Given the description of an element on the screen output the (x, y) to click on. 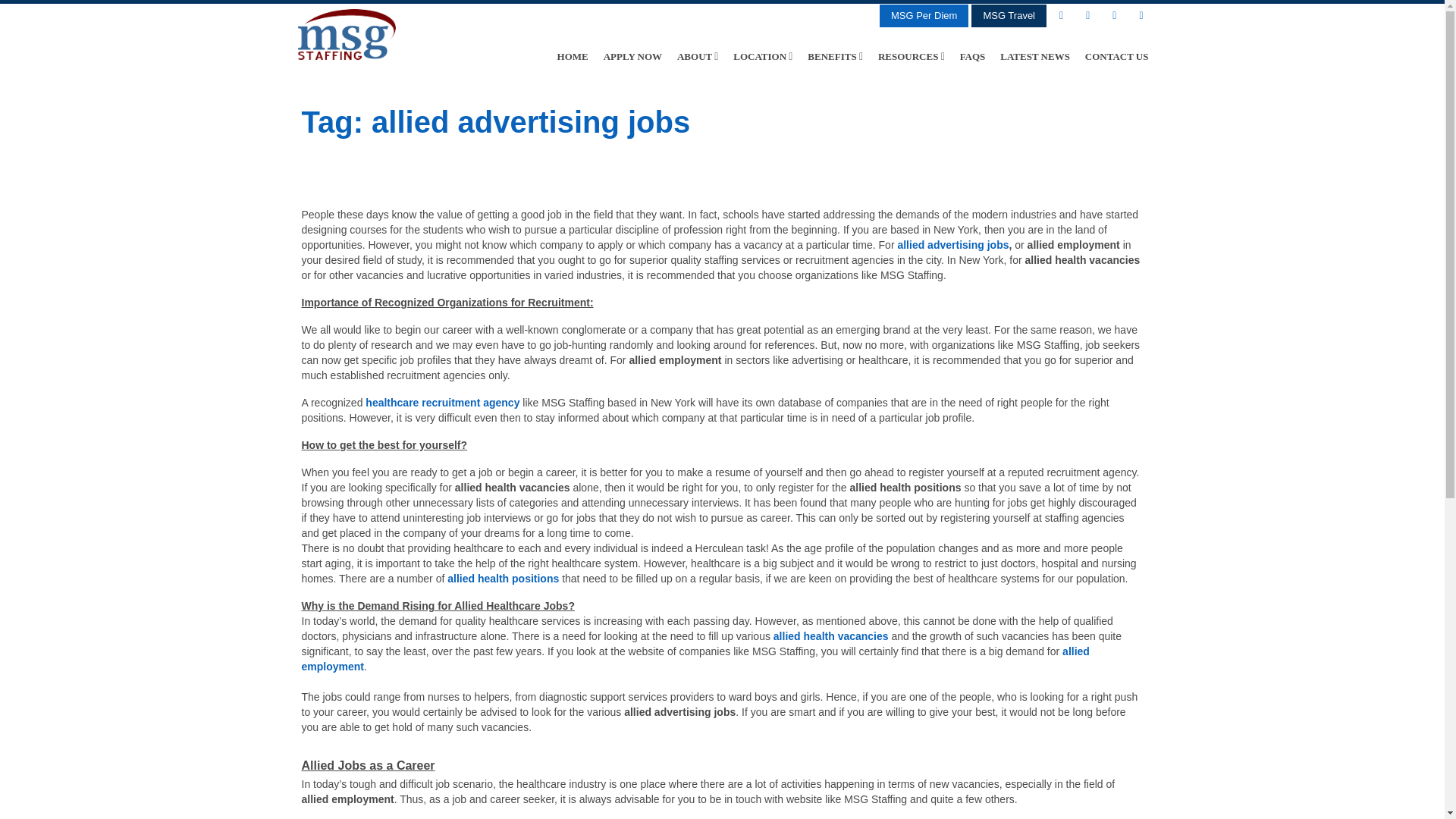
APPLY NOW (632, 56)
MSG Per Diem (923, 15)
LOCATION (761, 56)
ABOUT (697, 56)
RESOURCES (911, 56)
MSG Travel (1008, 15)
HOME (572, 56)
BENEFITS (835, 56)
